Given the description of an element on the screen output the (x, y) to click on. 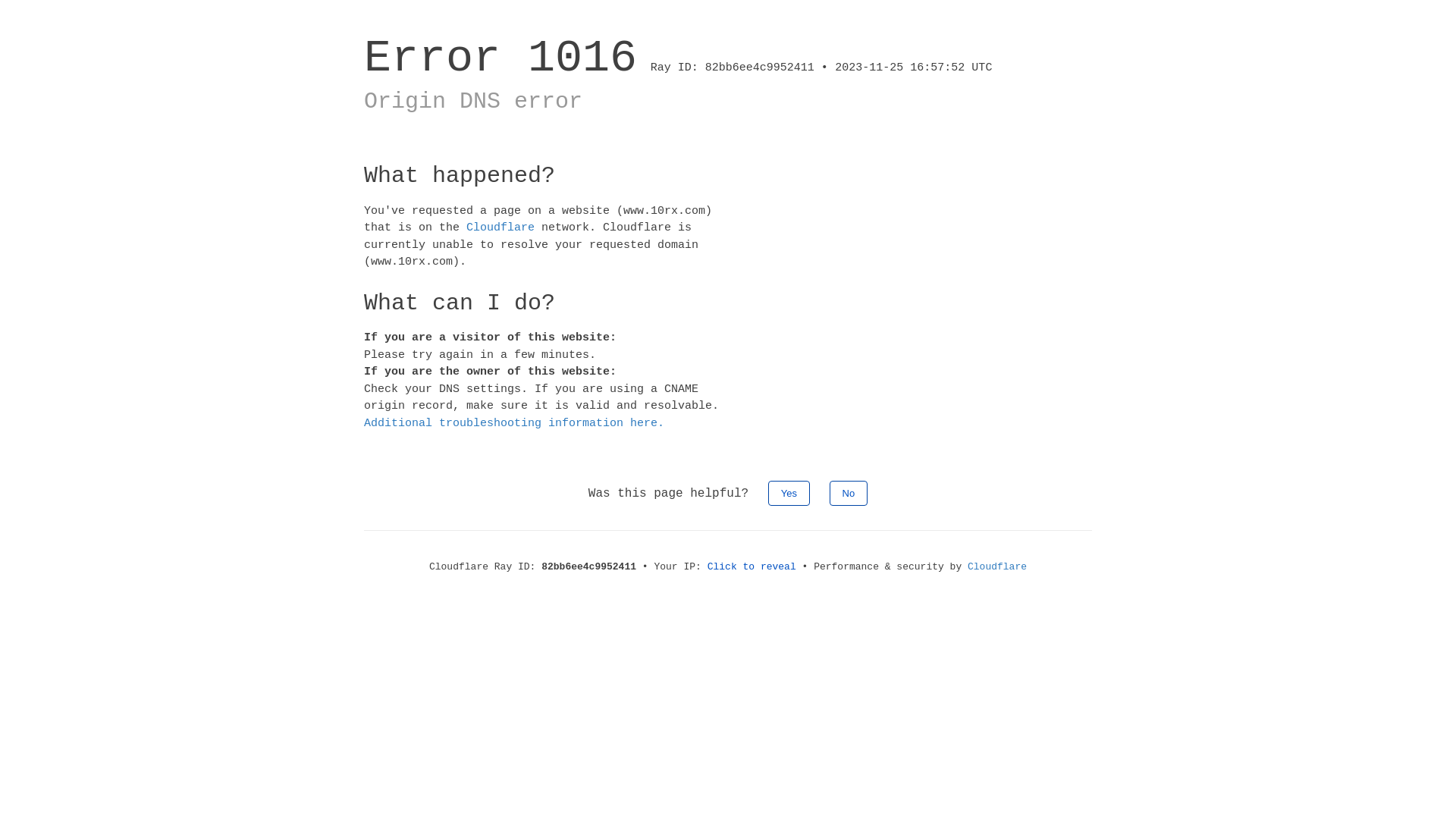
Yes Element type: text (788, 492)
Cloudflare Element type: text (996, 566)
No Element type: text (848, 492)
Cloudflare Element type: text (500, 227)
Click to reveal Element type: text (751, 566)
Additional troubleshooting information here. Element type: text (514, 423)
